Given the description of an element on the screen output the (x, y) to click on. 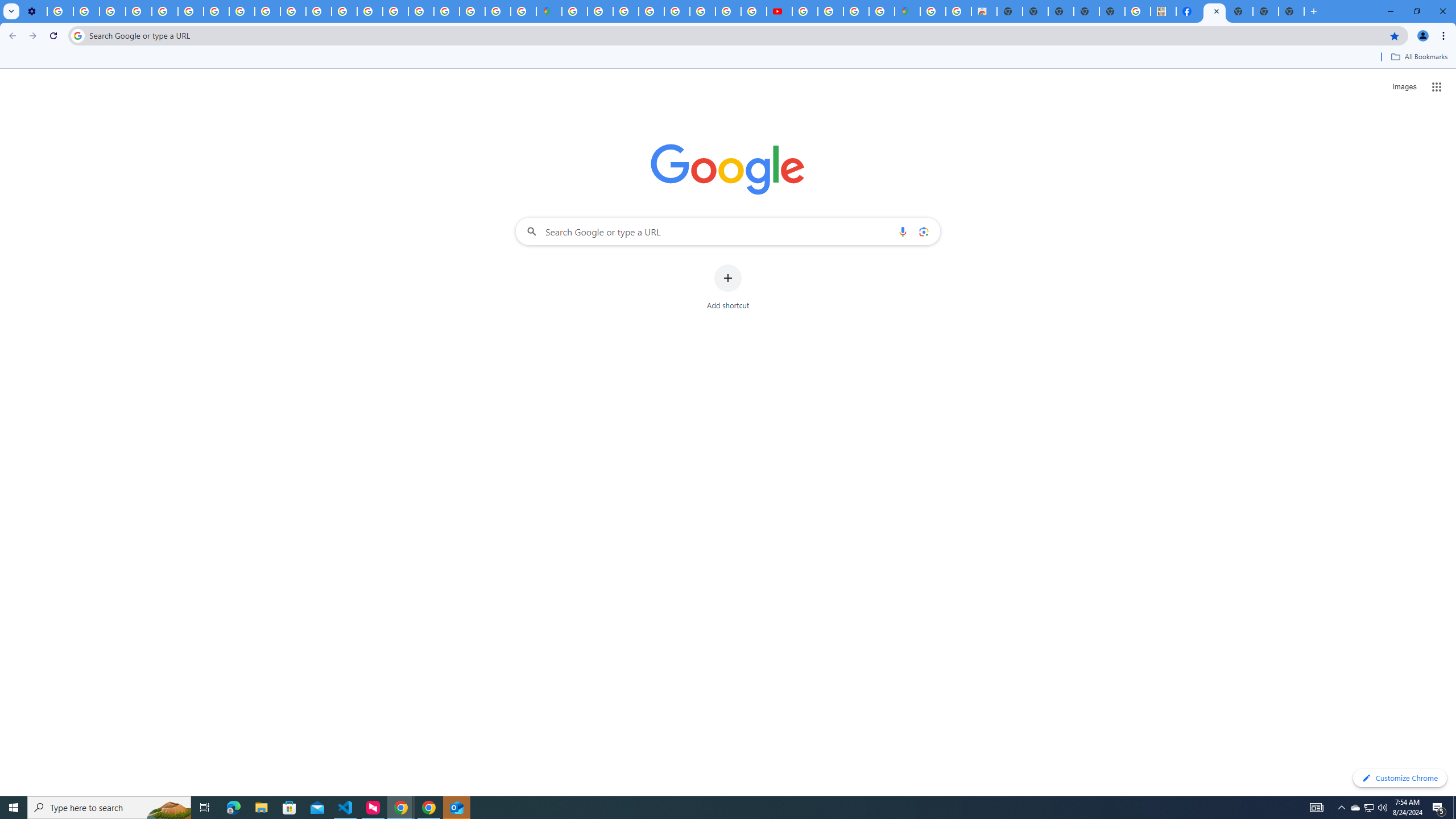
Sign in - Google Accounts (600, 11)
Customize Chrome (1399, 778)
Terms and Conditions (676, 11)
Privacy Help Center - Policies Help (727, 11)
https://scholar.google.com/ (318, 11)
